Given the description of an element on the screen output the (x, y) to click on. 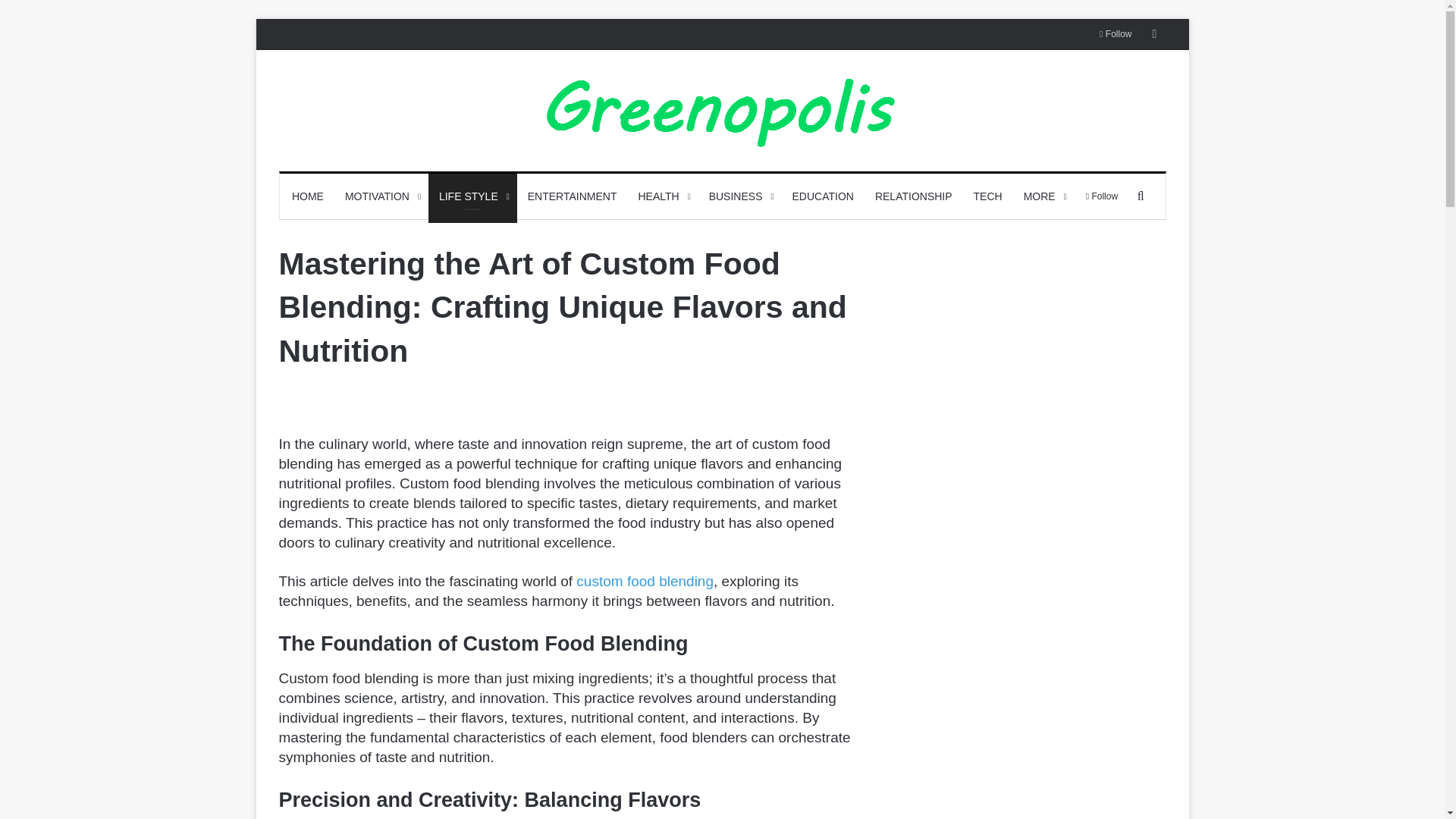
Greenopolis (721, 110)
HEALTH (662, 196)
LIFE STYLE (472, 196)
HOME (307, 196)
Follow (1114, 33)
ENTERTAINMENT (571, 196)
MOTIVATION (381, 196)
